Given the description of an element on the screen output the (x, y) to click on. 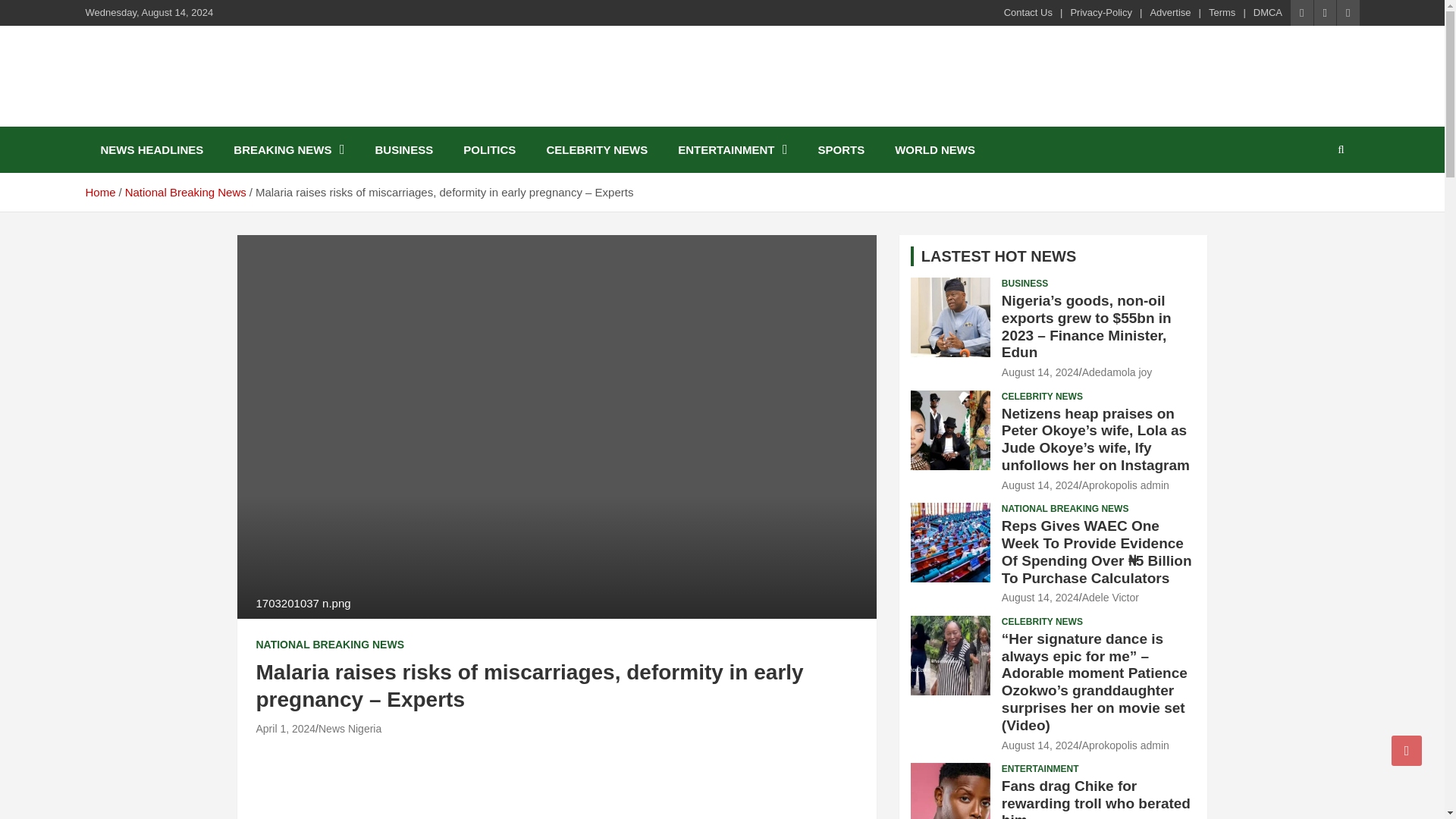
DMCA (1267, 12)
CELEBRITY NEWS (596, 149)
BUSINESS (403, 149)
ENTERTAINMENT (732, 149)
SPORTS (840, 149)
Home (99, 192)
POLITICS (489, 149)
Terms (1221, 12)
BREAKING NEWS (288, 149)
